Given the description of an element on the screen output the (x, y) to click on. 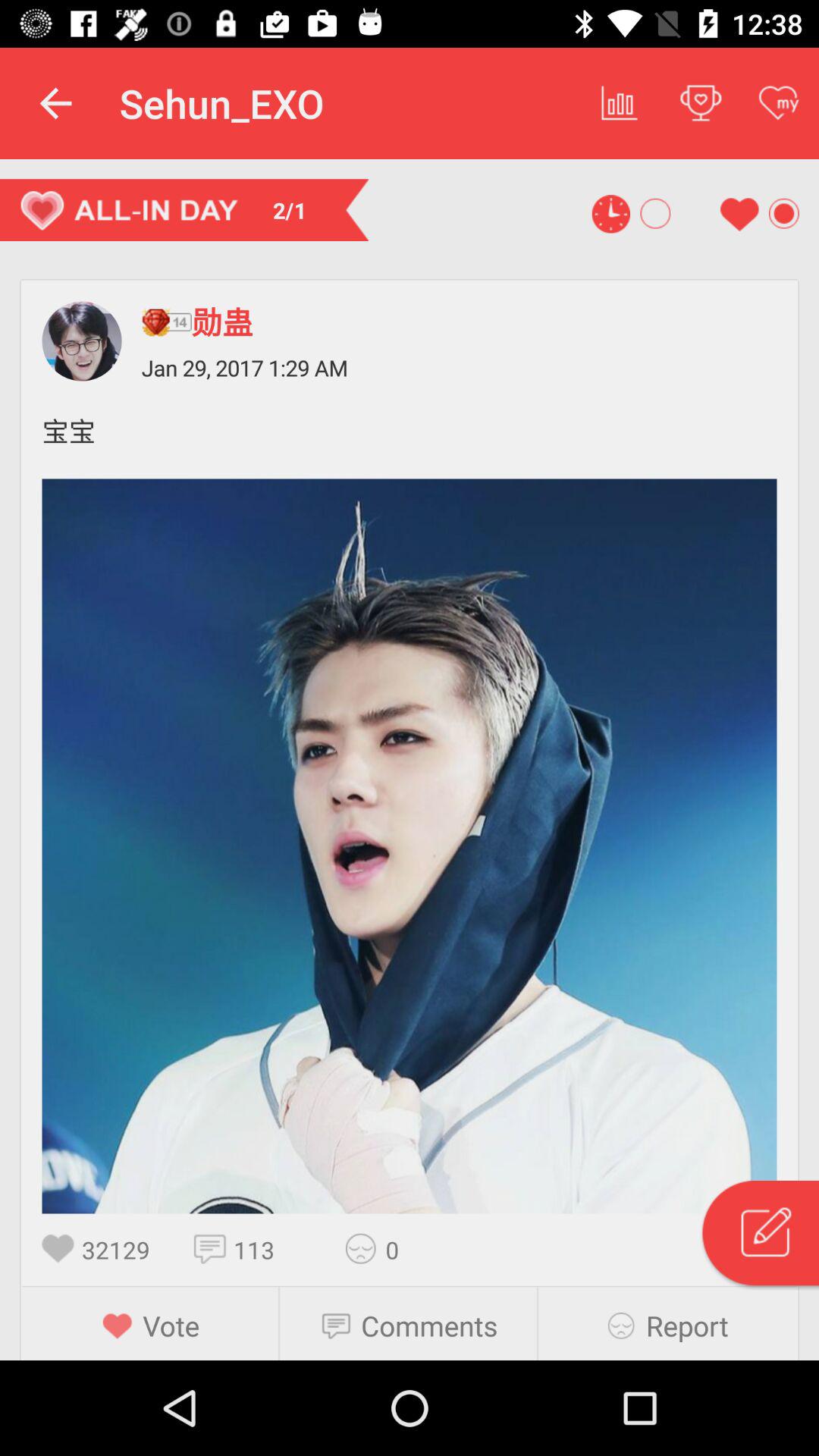
swipe until jan 29 2017 icon (458, 367)
